Given the description of an element on the screen output the (x, y) to click on. 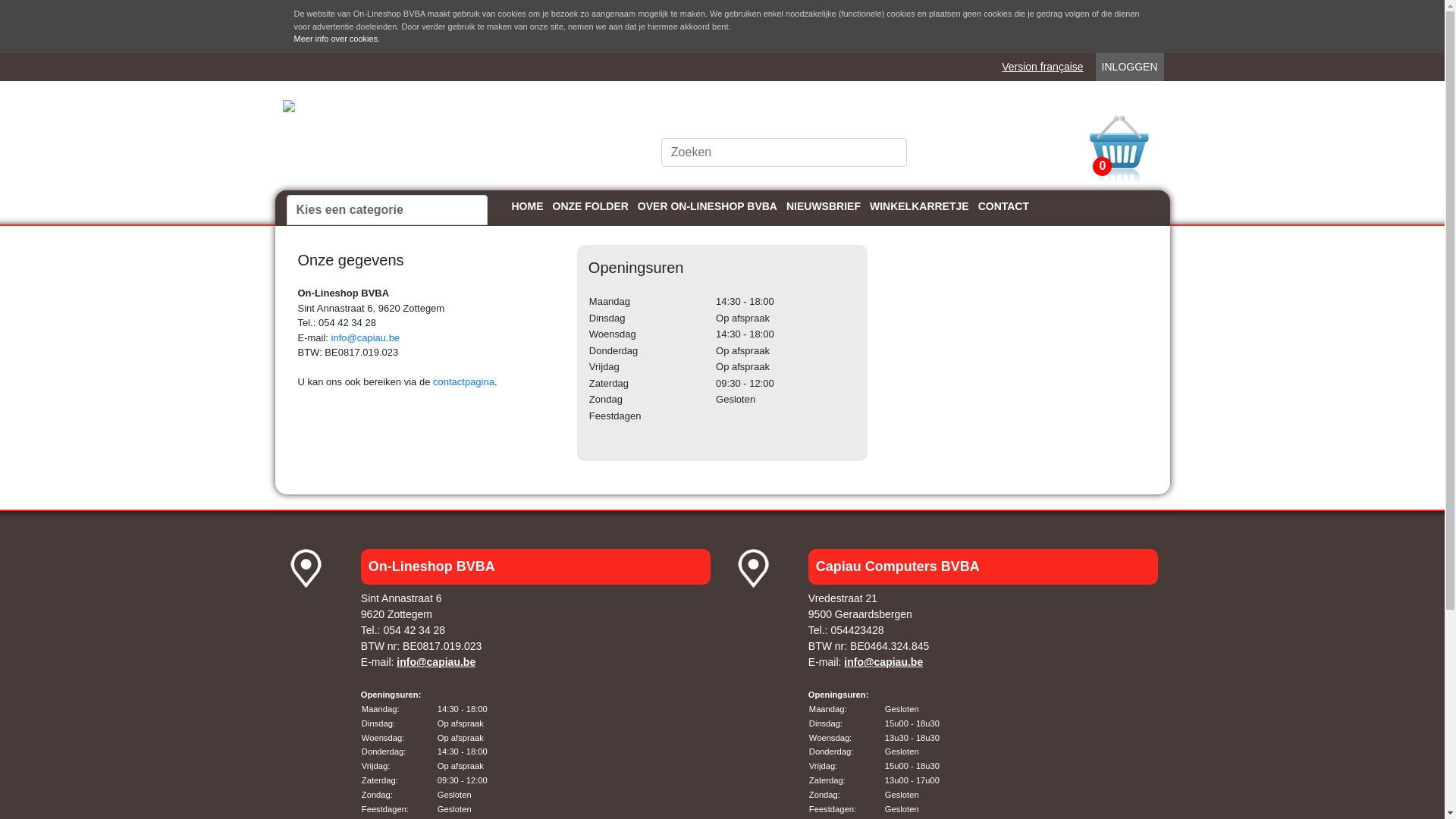
CONTACT Element type: text (1003, 204)
WINKELKARRETJE Element type: text (919, 204)
info@capiau.be Element type: text (365, 337)
ONZE FOLDER Element type: text (589, 204)
HOME Element type: text (526, 204)
info@capiau.be Element type: text (435, 661)
OVER ON-LINESHOP BVBA Element type: text (707, 204)
Kies een categorie Element type: text (386, 209)
info@capiau.be Element type: text (883, 661)
NIEUWSBRIEF Element type: text (823, 204)
contactpagina Element type: text (463, 381)
Meer info over cookies Element type: text (336, 38)
